Given the description of an element on the screen output the (x, y) to click on. 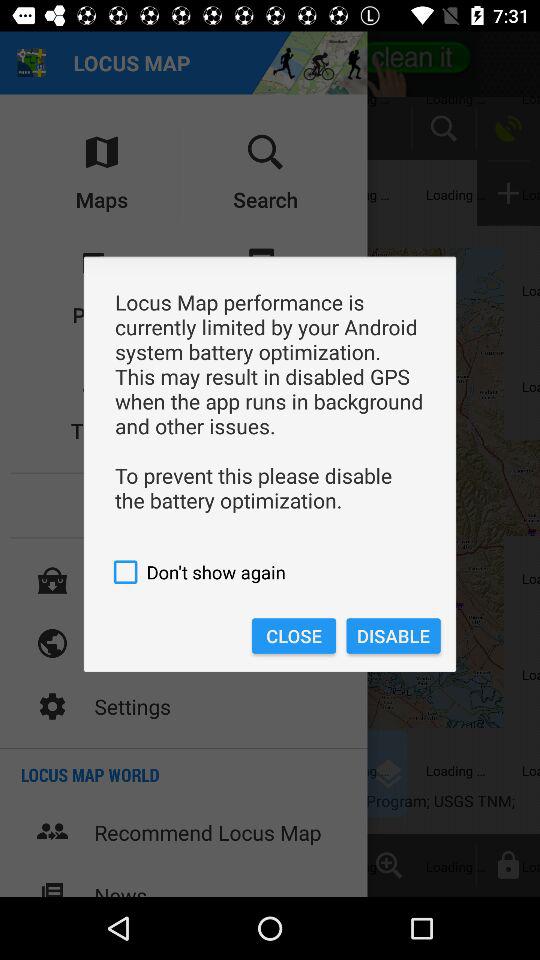
launch the item to the right of close (393, 635)
